Given the description of an element on the screen output the (x, y) to click on. 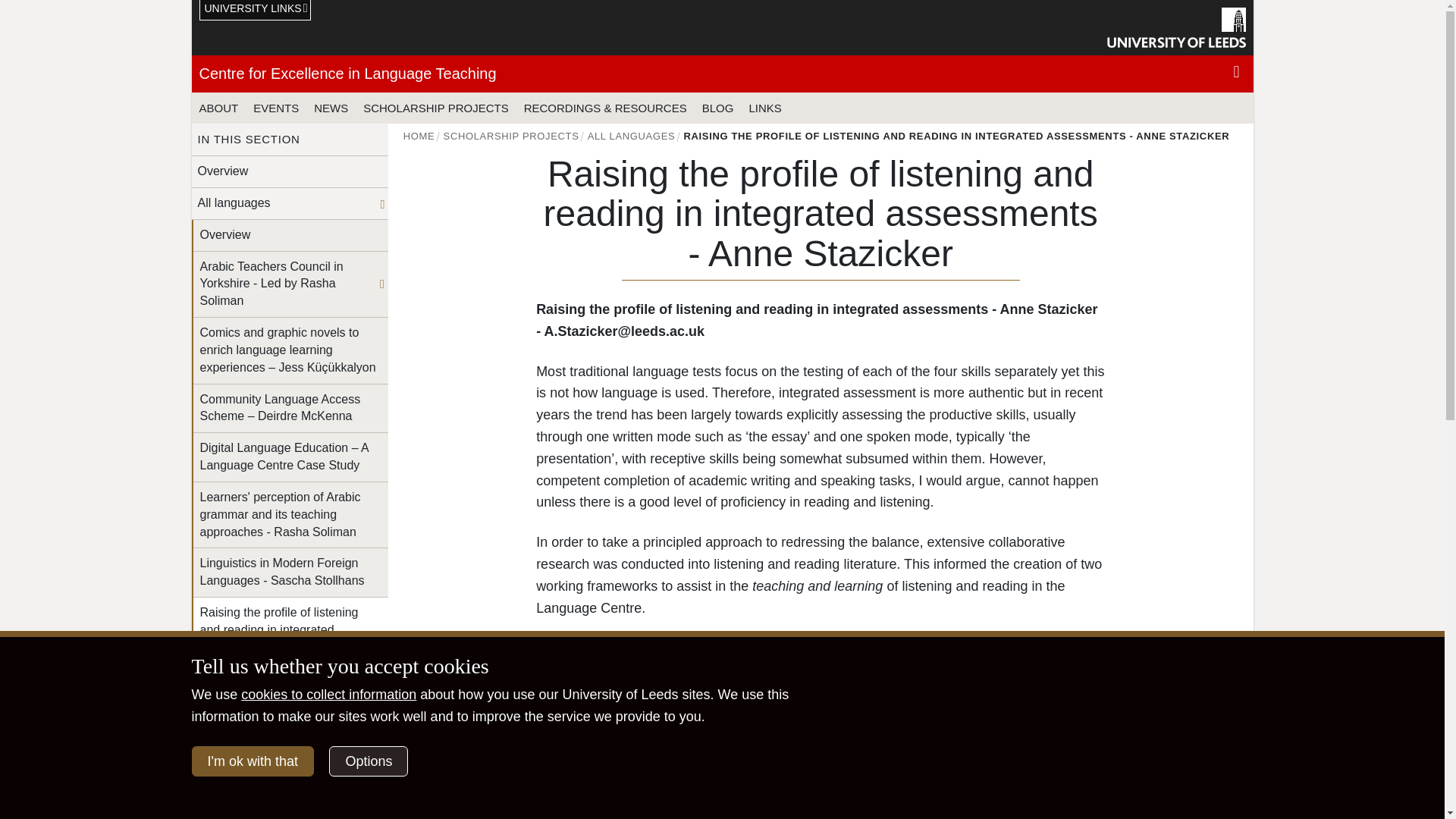
Centre for Excellence in Language Teaching (347, 73)
UNIVERSITY LINKS (254, 10)
University of Leeds home page (1176, 26)
